Given the description of an element on the screen output the (x, y) to click on. 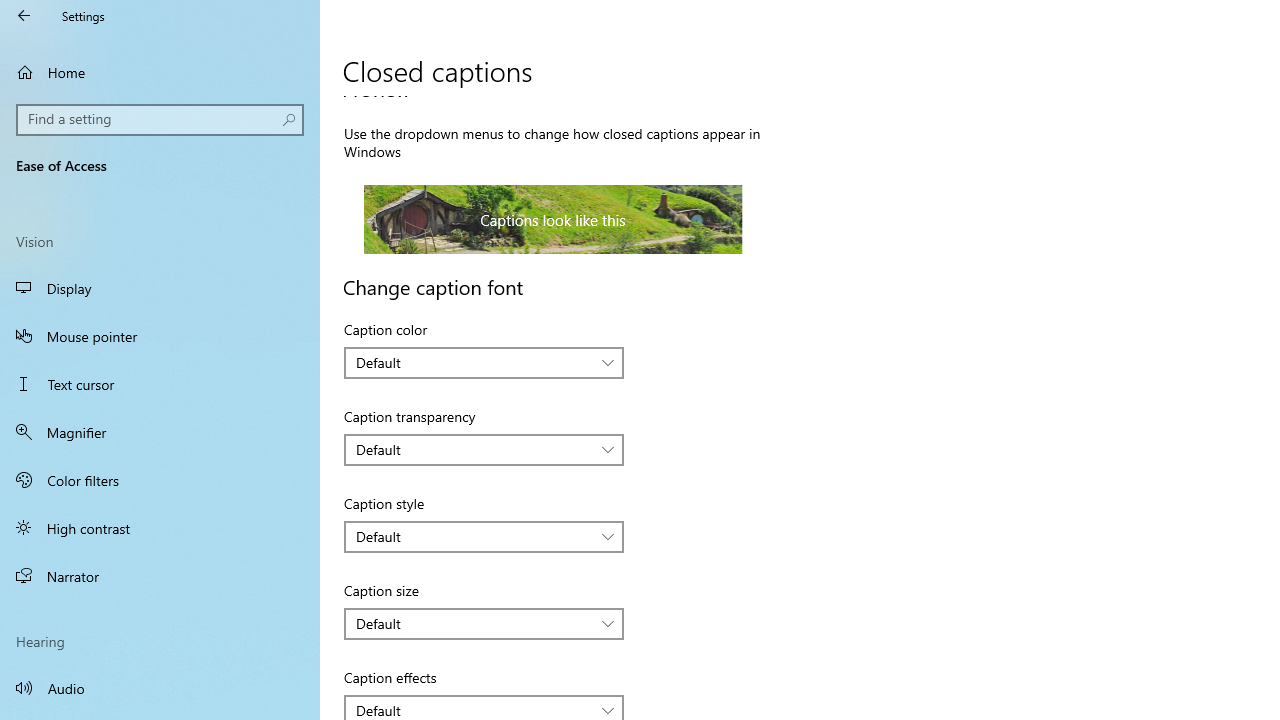
Caption color (484, 362)
Caption size (484, 623)
Default (473, 710)
Magnifier (160, 431)
Audio (160, 687)
High contrast (160, 527)
Caption style (484, 536)
Text cursor (160, 384)
Color filters (160, 479)
Search box, Find a setting (160, 119)
Display (160, 287)
Narrator (160, 575)
Caption transparency (484, 449)
